Given the description of an element on the screen output the (x, y) to click on. 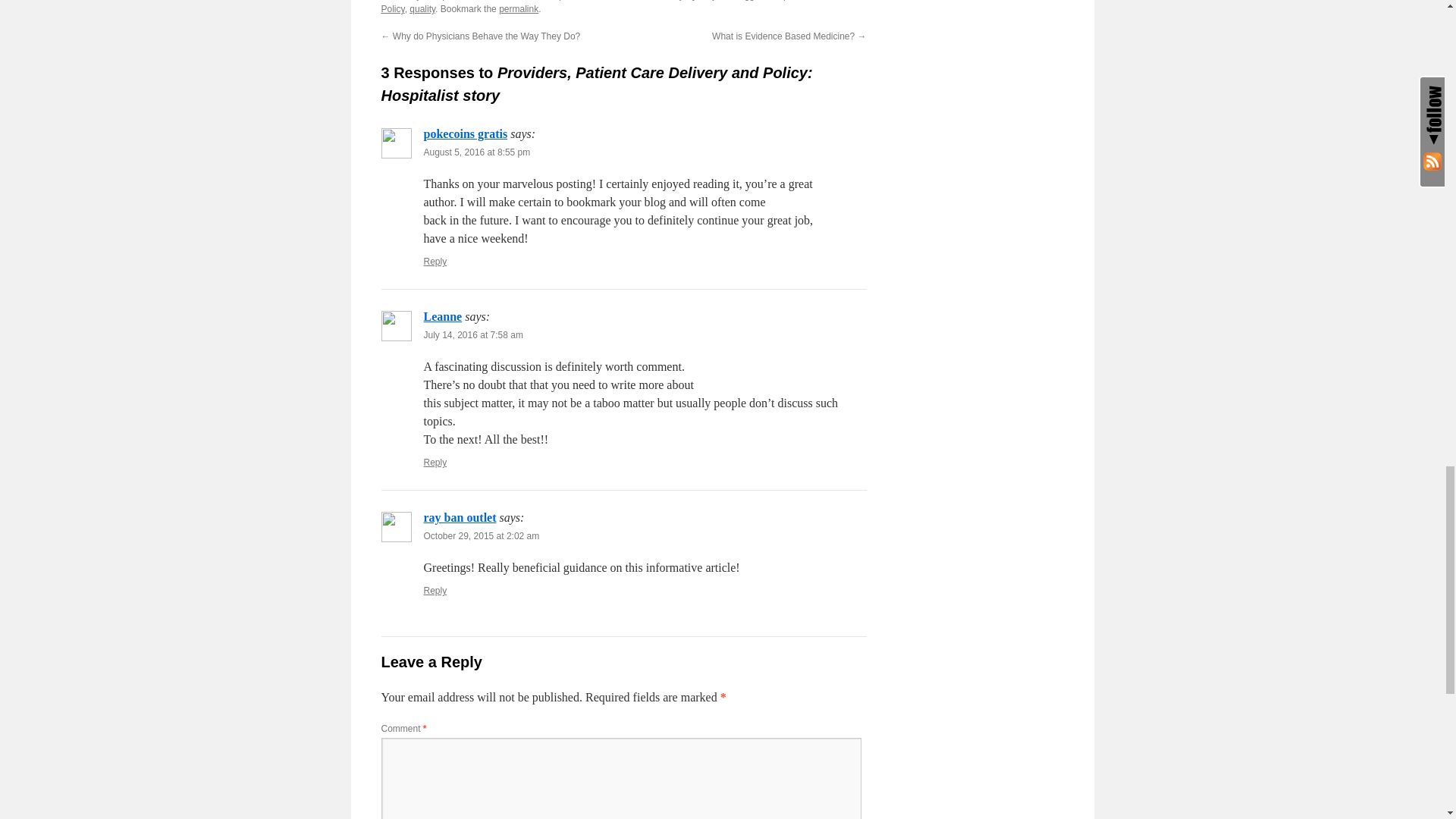
pokecoins gratis (464, 133)
Hospitalist (788, 0)
Public Policy (609, 7)
General Interest (514, 0)
permalink (518, 9)
August 5, 2016 at 8:55 pm (476, 152)
quality (422, 9)
